Given the description of an element on the screen output the (x, y) to click on. 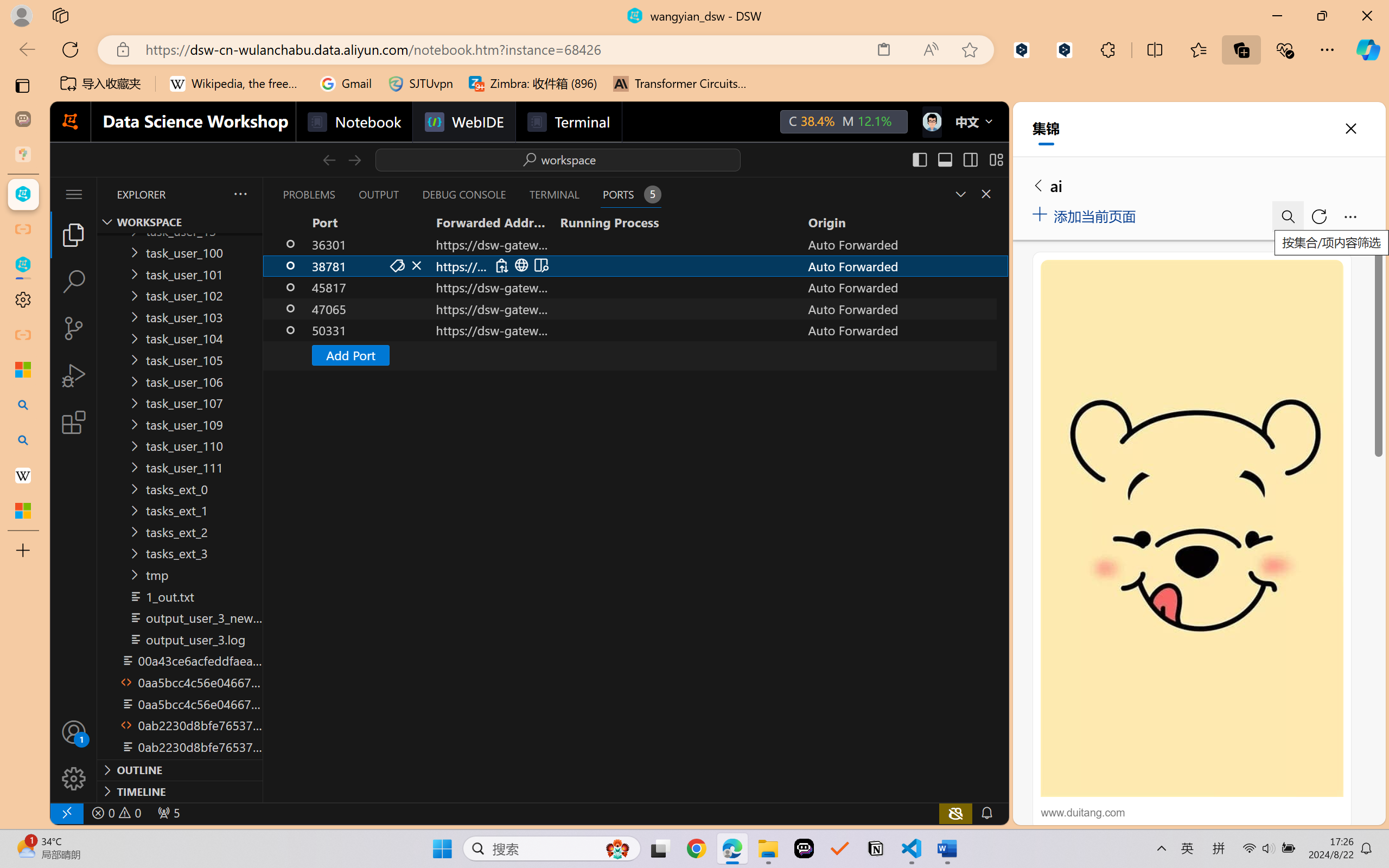
Transformer Circuits Thread (680, 83)
Toggle Panel (Ctrl+J) (944, 159)
Run and Debug (Ctrl+Shift+D) (73, 375)
Outline Section (179, 769)
Class: actions-container (520, 265)
Toggle Primary Side Bar (Ctrl+B) (919, 159)
copilot-notconnected, Copilot error (click for details) (955, 812)
Add Port (349, 354)
icon (930, 119)
